Given the description of an element on the screen output the (x, y) to click on. 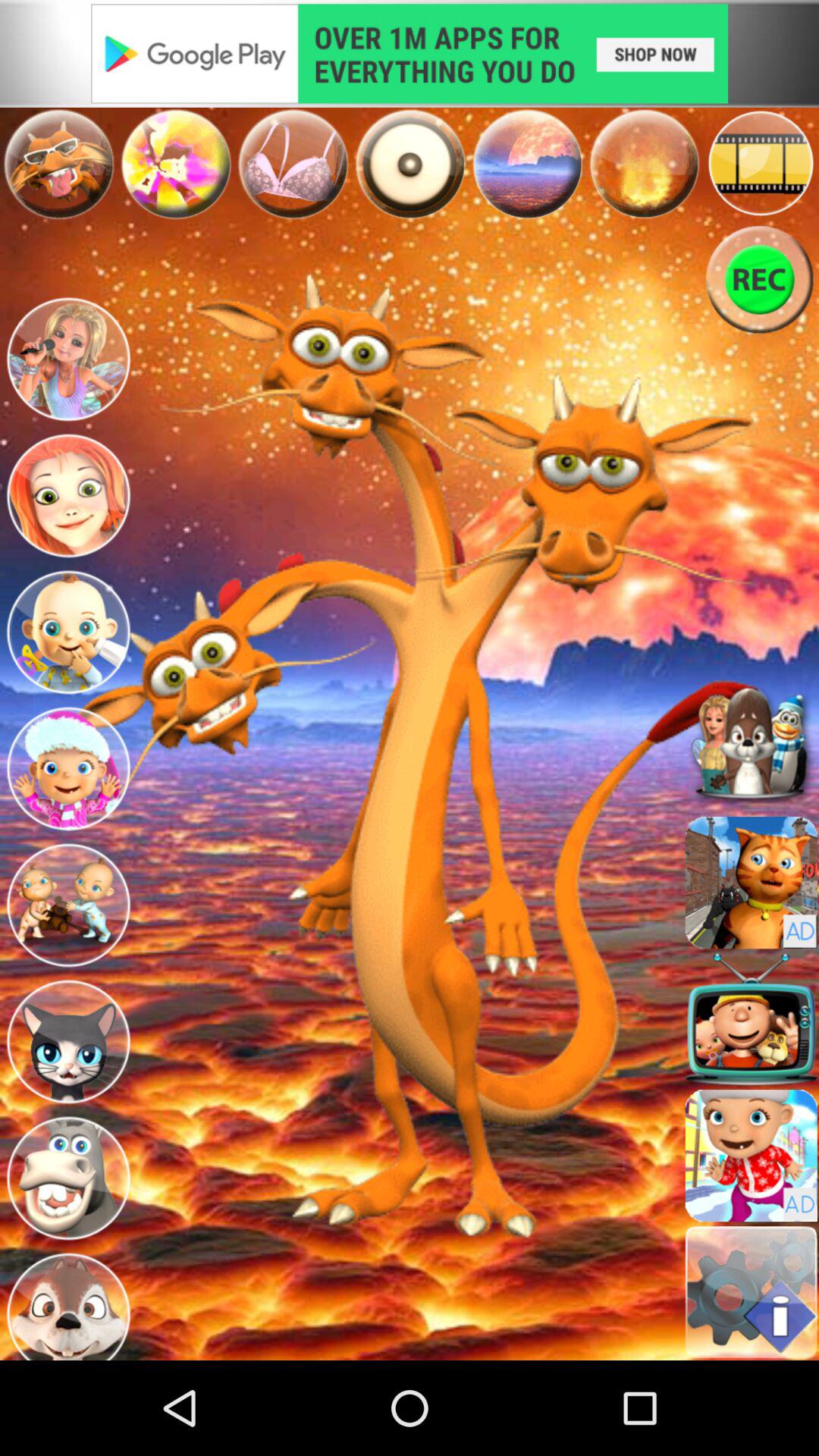
select character (68, 1041)
